Given the description of an element on the screen output the (x, y) to click on. 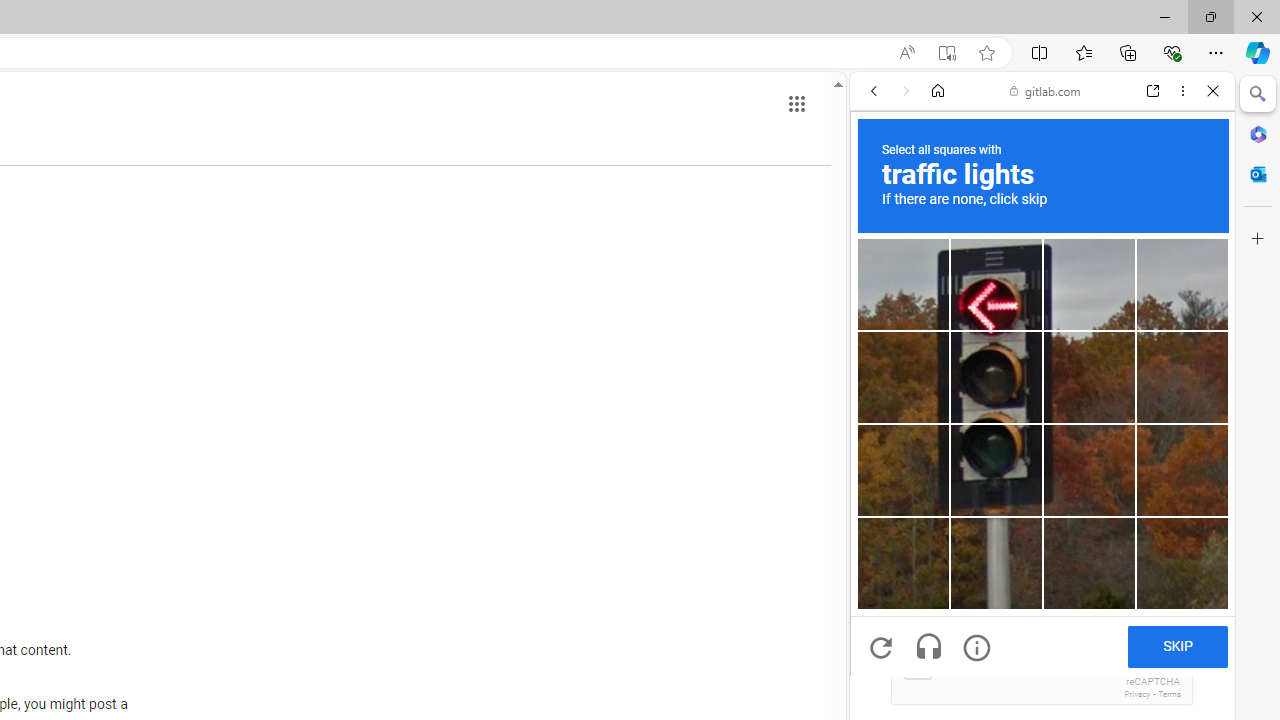
Close Search pane (1258, 94)
Confirmation Page (1042, 684)
Dashboard (1042, 641)
Email (1042, 530)
SKIP (1177, 646)
gitlab.com (1045, 90)
